Given the description of an element on the screen output the (x, y) to click on. 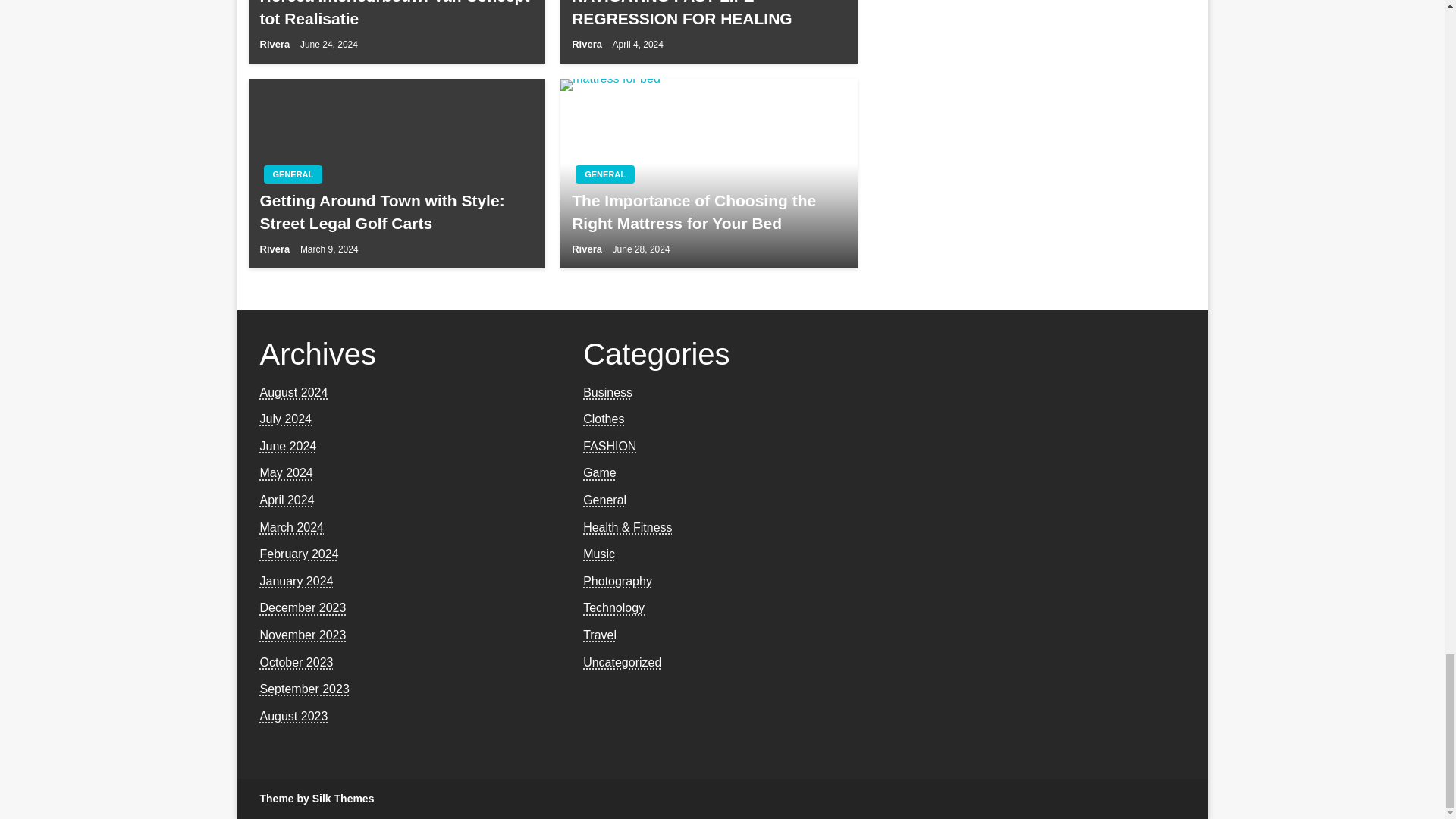
Rivera (588, 248)
GENERAL (604, 174)
Getting Around Town with Style: Street Legal Golf Carts (396, 211)
Rivera (275, 43)
Horeca Interieurbouw: Van Concept tot Realisatie (396, 14)
The Importance of Choosing the Right Mattress for Your Bed (708, 211)
Rivera (588, 43)
GENERAL (293, 174)
Rivera (275, 248)
